Given the description of an element on the screen output the (x, y) to click on. 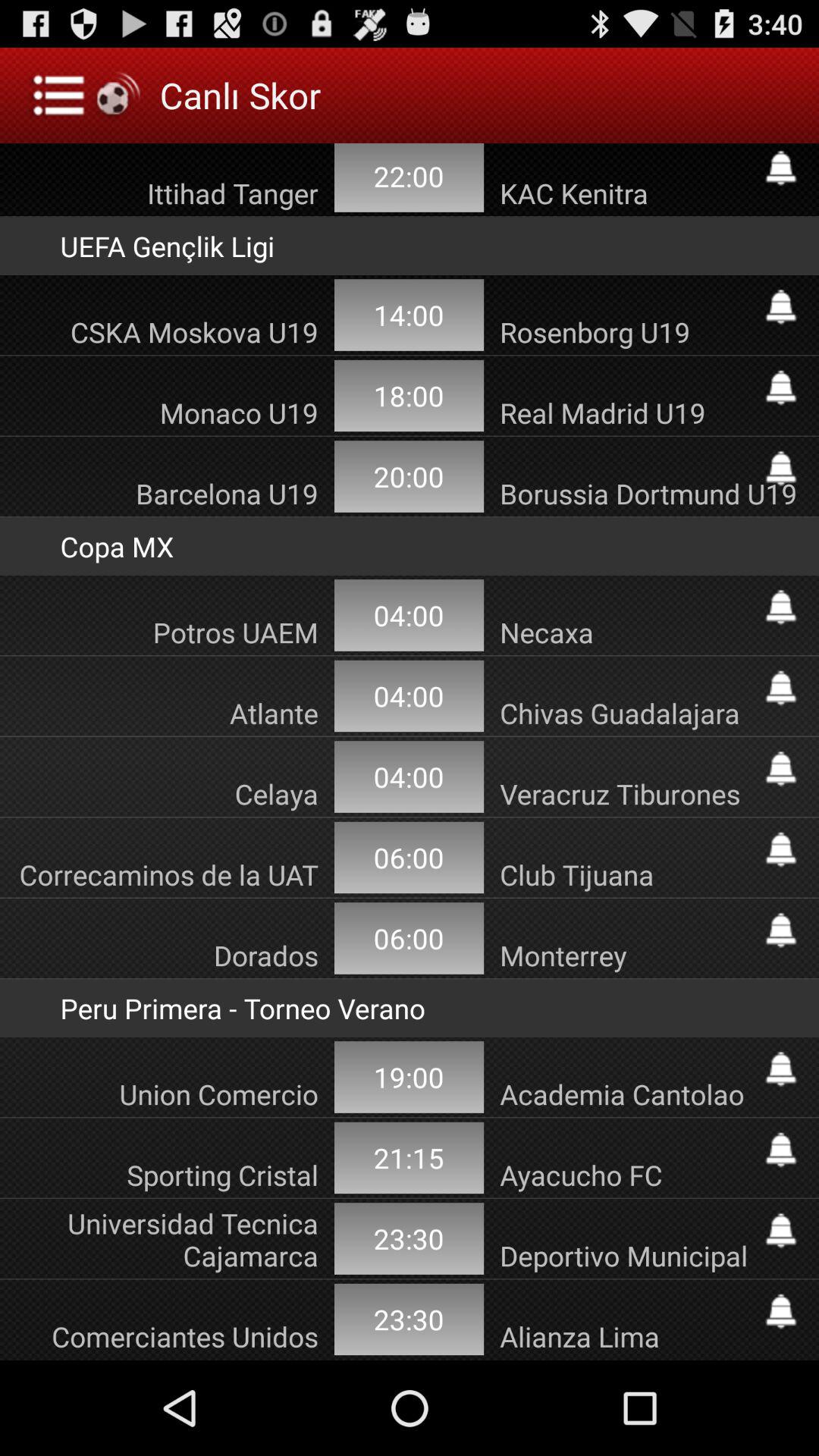
notification symbol (780, 607)
